Given the description of an element on the screen output the (x, y) to click on. 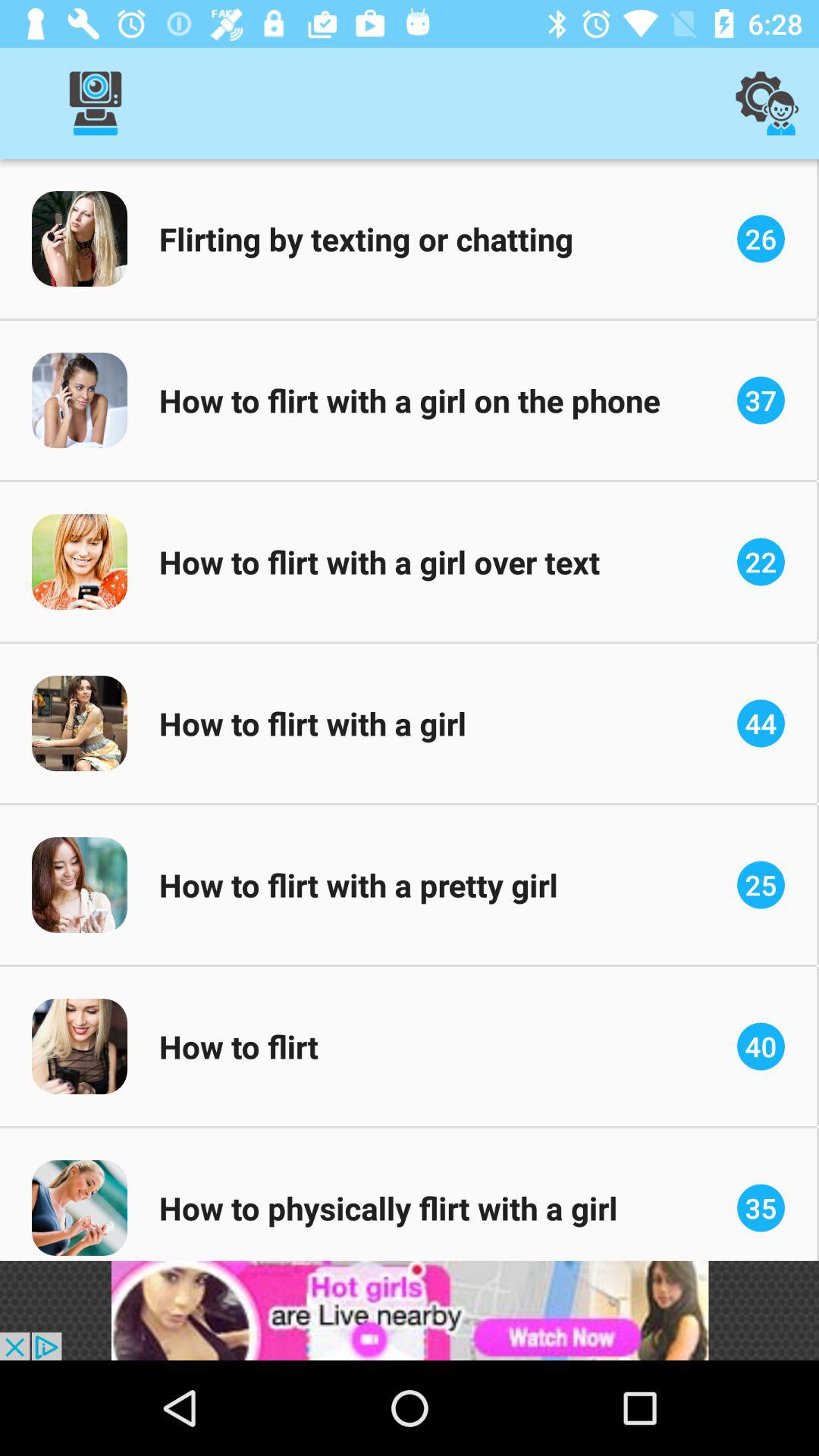
advertisement page (409, 1310)
